Given the description of an element on the screen output the (x, y) to click on. 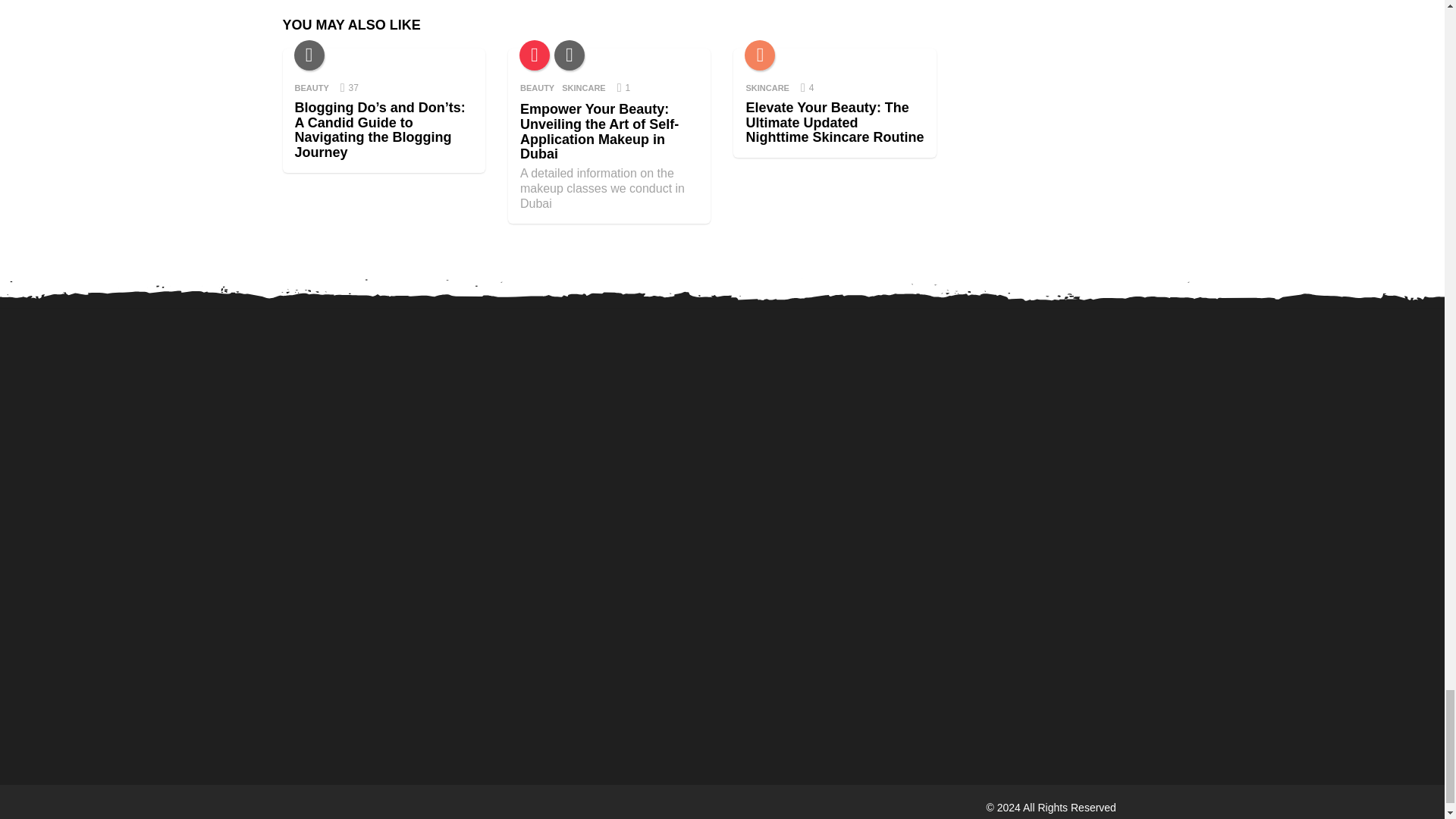
Beauty (569, 55)
Trending (534, 55)
Skincare (759, 55)
Beauty (309, 55)
